Given the description of an element on the screen output the (x, y) to click on. 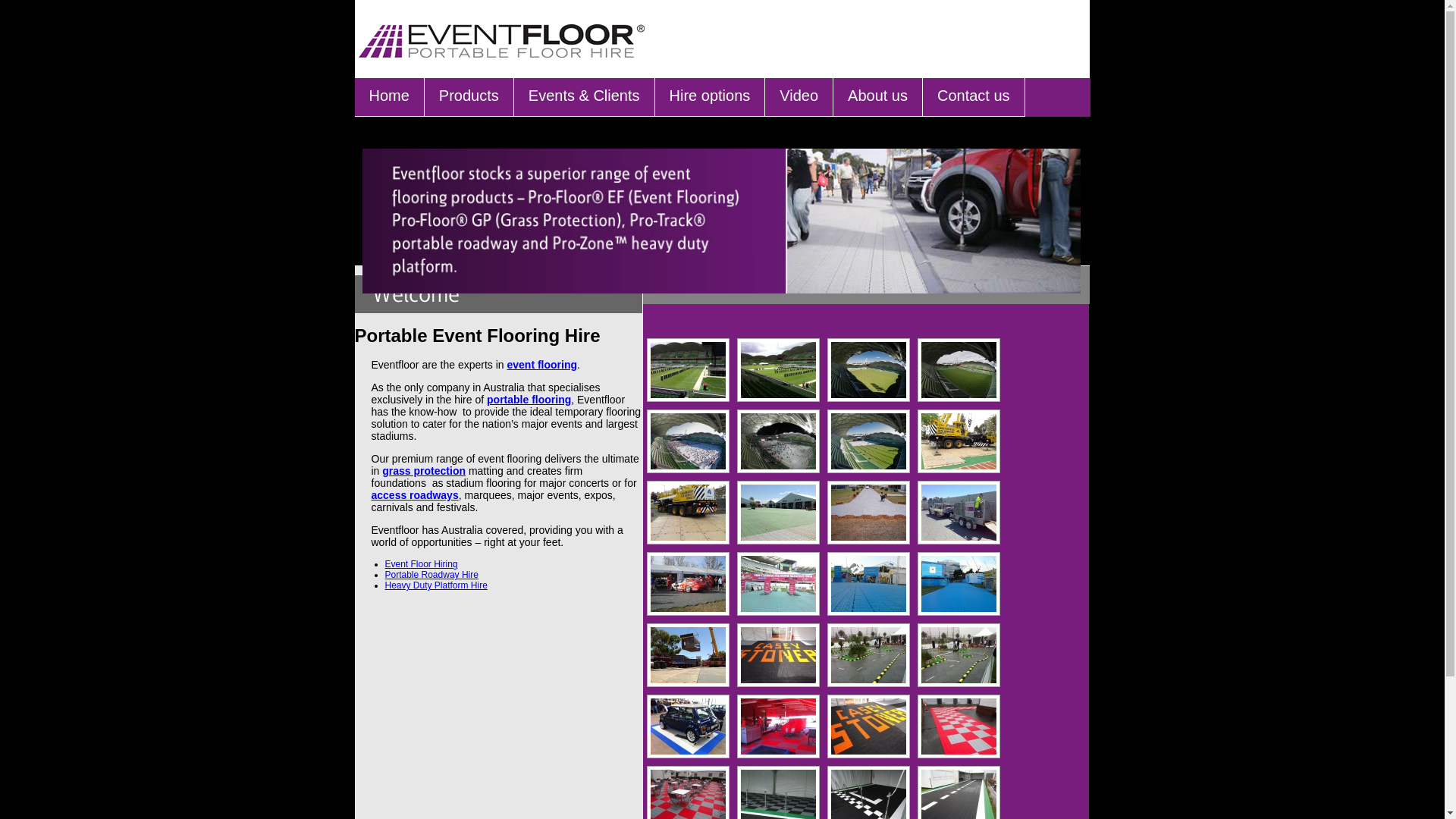
Video Element type: text (798, 97)
Contact us Element type: text (973, 97)
access roadways Element type: text (414, 495)
photo-1-aami-park- Element type: hover (687, 441)
Products Element type: text (468, 97)
413aami-park- Element type: hover (777, 370)
Events & Clients Element type: text (584, 97)
photo2 Element type: hover (868, 583)
event-flooring-13 Element type: hover (777, 726)
Portable Roadway Hire Element type: text (431, 574)
grass protection Element type: text (423, 470)
event-flooring-12 Element type: hover (687, 726)
Event Floor Hiring Element type: text (421, 563)
event-flooring-11 Element type: hover (957, 655)
photo3 Element type: hover (687, 583)
photo-8-aami-park- Element type: hover (868, 441)
photo5 Element type: hover (868, 512)
event-flooring-1 Element type: hover (777, 655)
aami-park-10 Element type: hover (868, 370)
event-flooring-10 Element type: hover (868, 655)
Hire options Element type: text (710, 97)
photo-9-aami-park- Element type: hover (777, 441)
photo10 Element type: hover (687, 655)
410aami-park- Element type: hover (687, 370)
photo6 Element type: hover (777, 583)
aami-park-7 Element type: hover (957, 370)
event-flooring-2 Element type: hover (868, 726)
event flooring Element type: text (541, 364)
photo7 Element type: hover (777, 512)
photo1 Element type: hover (957, 583)
About us Element type: text (877, 97)
Home Element type: text (388, 97)
event-flooring-3 Element type: hover (957, 726)
photo9 Element type: hover (957, 441)
Heavy Duty Platform Hire Element type: text (436, 585)
portable flooring Element type: text (528, 399)
photo4 Element type: hover (957, 512)
photo8 Element type: hover (687, 512)
